Given the description of an element on the screen output the (x, y) to click on. 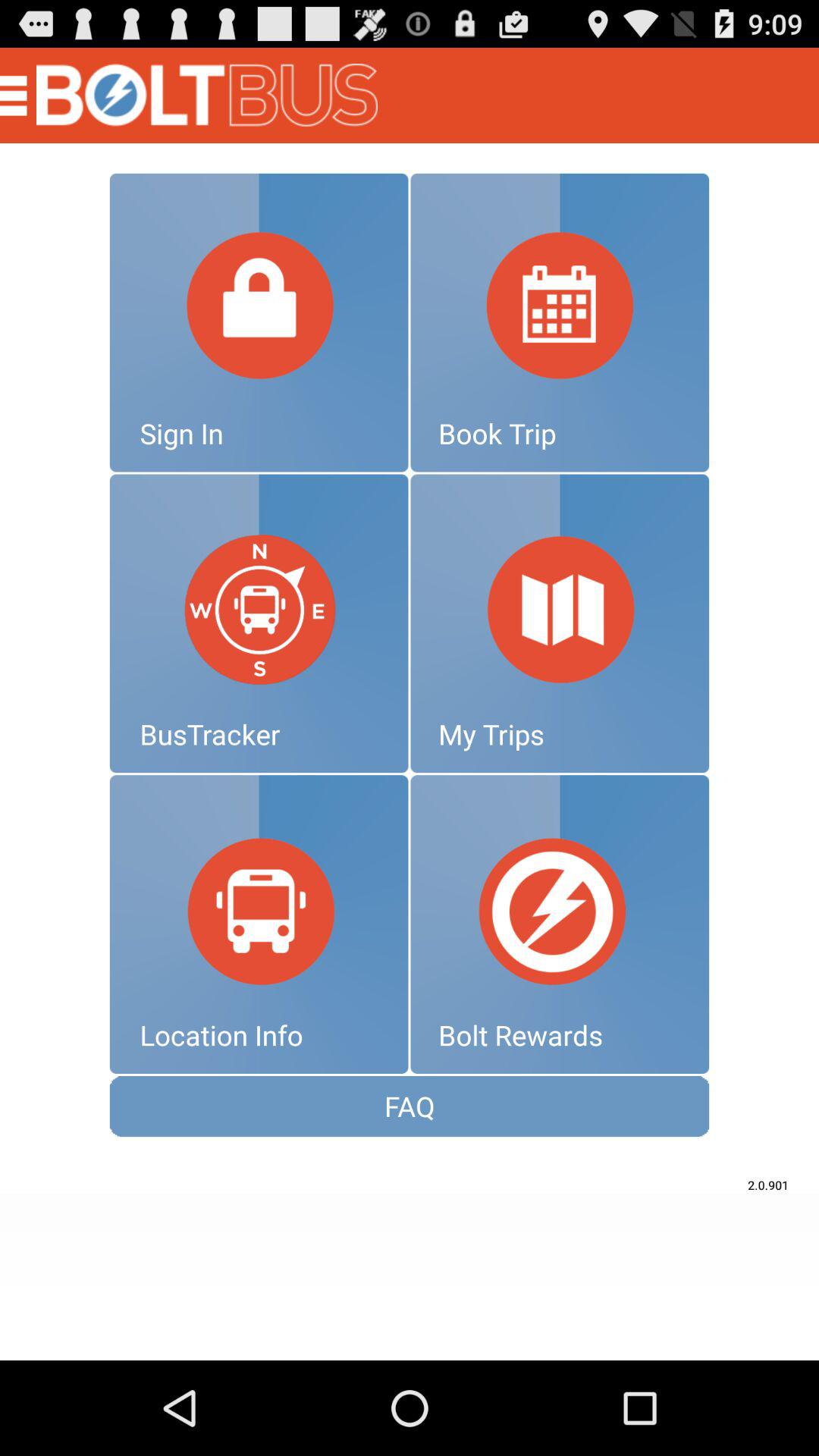
bustracker icon (258, 623)
